Given the description of an element on the screen output the (x, y) to click on. 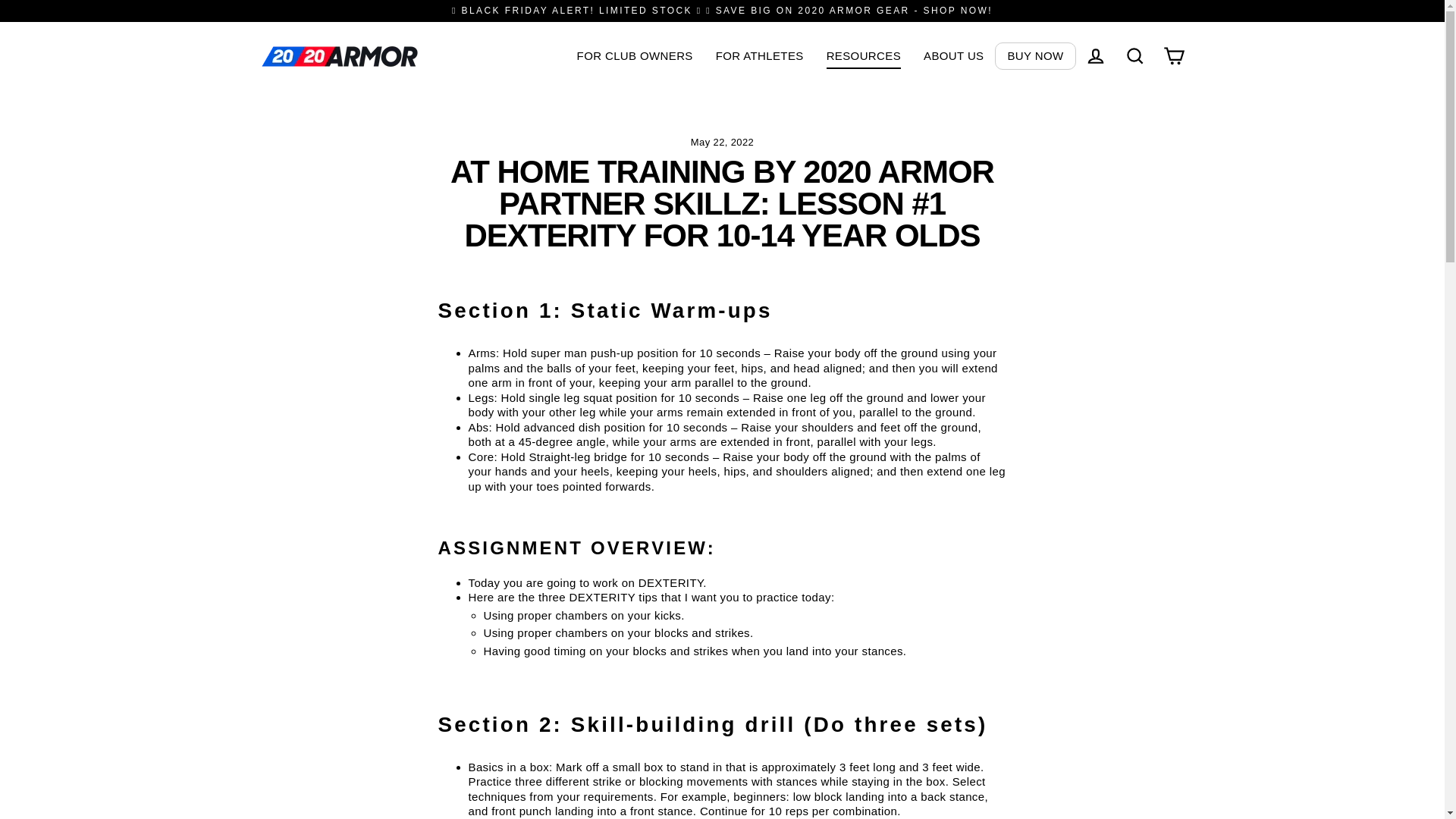
ABOUT US Element type: text (953, 56)
BUY NOW Element type: text (1034, 56)
RESOURCES Element type: text (863, 56)
Cart Element type: text (1173, 55)
FOR CLUB OWNERS Element type: text (634, 56)
FOR ATHLETES Element type: text (759, 56)
Search Element type: text (1134, 55)
Log in Element type: text (1094, 55)
